Given the description of an element on the screen output the (x, y) to click on. 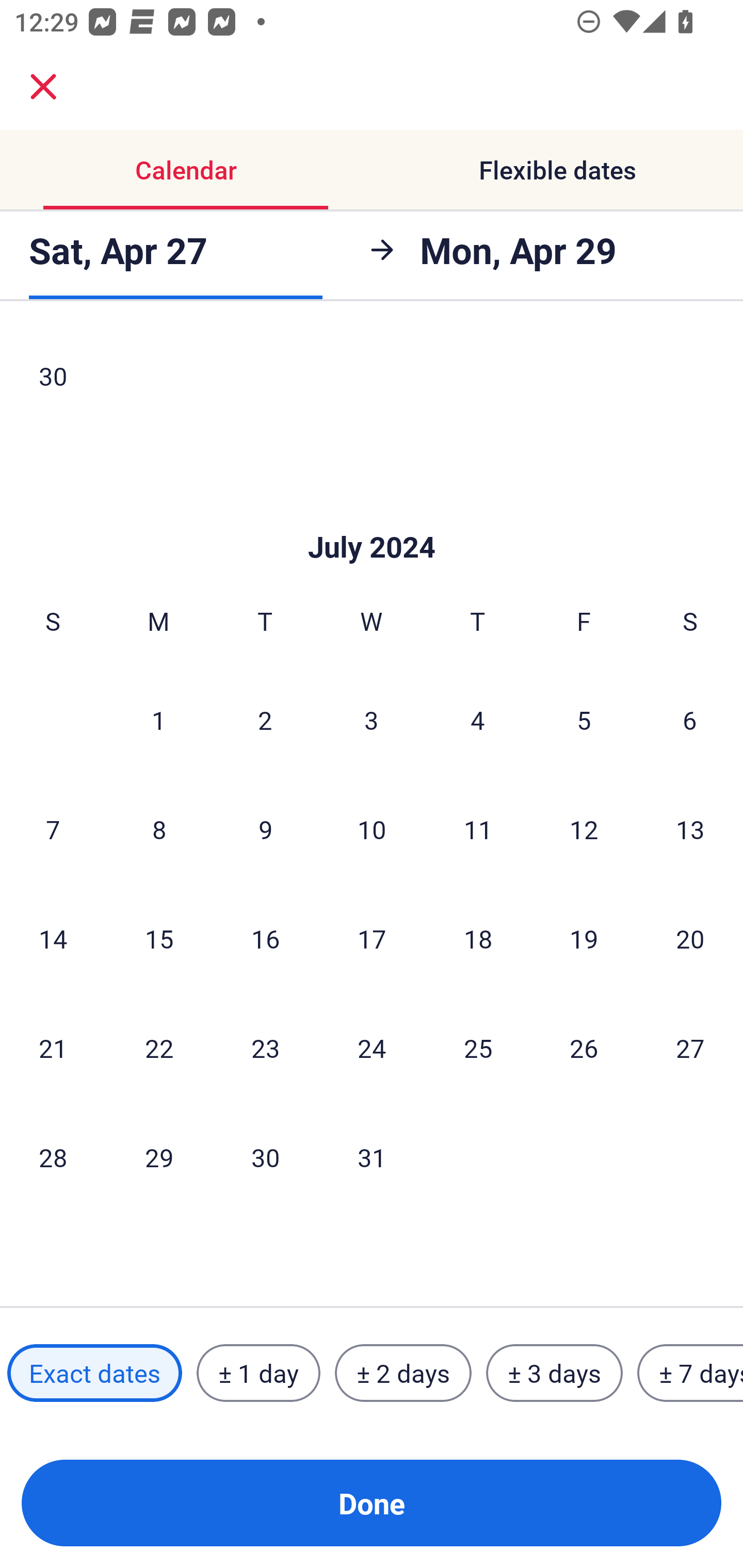
close. (43, 86)
Flexible dates (557, 170)
30 Sunday, June 30, 2024 (53, 379)
Skip to Done (371, 516)
1 Monday, July 1, 2024 (158, 719)
2 Tuesday, July 2, 2024 (264, 719)
3 Wednesday, July 3, 2024 (371, 719)
4 Thursday, July 4, 2024 (477, 719)
5 Friday, July 5, 2024 (583, 719)
6 Saturday, July 6, 2024 (689, 719)
7 Sunday, July 7, 2024 (53, 828)
8 Monday, July 8, 2024 (159, 828)
9 Tuesday, July 9, 2024 (265, 828)
10 Wednesday, July 10, 2024 (371, 828)
11 Thursday, July 11, 2024 (477, 828)
12 Friday, July 12, 2024 (584, 828)
13 Saturday, July 13, 2024 (690, 828)
14 Sunday, July 14, 2024 (53, 937)
15 Monday, July 15, 2024 (159, 937)
16 Tuesday, July 16, 2024 (265, 937)
17 Wednesday, July 17, 2024 (371, 937)
18 Thursday, July 18, 2024 (477, 937)
19 Friday, July 19, 2024 (584, 937)
20 Saturday, July 20, 2024 (690, 937)
21 Sunday, July 21, 2024 (53, 1047)
22 Monday, July 22, 2024 (159, 1047)
23 Tuesday, July 23, 2024 (265, 1047)
24 Wednesday, July 24, 2024 (371, 1047)
25 Thursday, July 25, 2024 (477, 1047)
26 Friday, July 26, 2024 (584, 1047)
27 Saturday, July 27, 2024 (690, 1047)
28 Sunday, July 28, 2024 (53, 1156)
29 Monday, July 29, 2024 (159, 1156)
30 Tuesday, July 30, 2024 (265, 1156)
31 Wednesday, July 31, 2024 (371, 1156)
Exact dates (94, 1372)
± 1 day (258, 1372)
± 2 days (403, 1372)
± 3 days (553, 1372)
± 7 days (690, 1372)
Done (371, 1502)
